Given the description of an element on the screen output the (x, y) to click on. 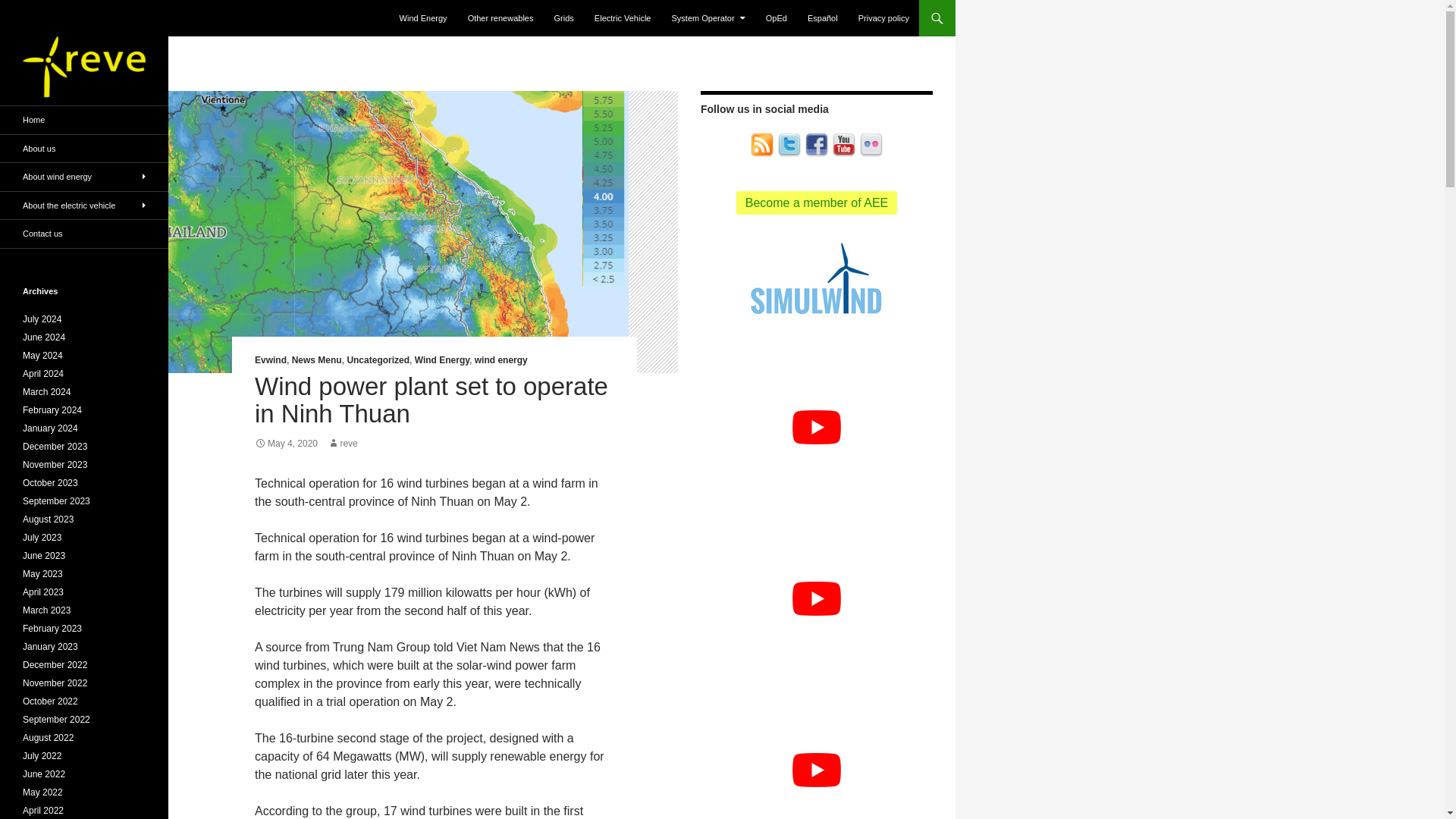
News Menu (317, 359)
wind energy (500, 359)
OpEd (776, 18)
youtube (843, 145)
System Operator (708, 18)
flickr (871, 144)
youtube (843, 144)
Wind Energy (441, 359)
Grids (563, 18)
flickr (871, 145)
facebook (816, 144)
Electric Vehicle (623, 18)
Wind Energy (423, 18)
Uncategorized (377, 359)
Become a member of AEE (817, 202)
